Given the description of an element on the screen output the (x, y) to click on. 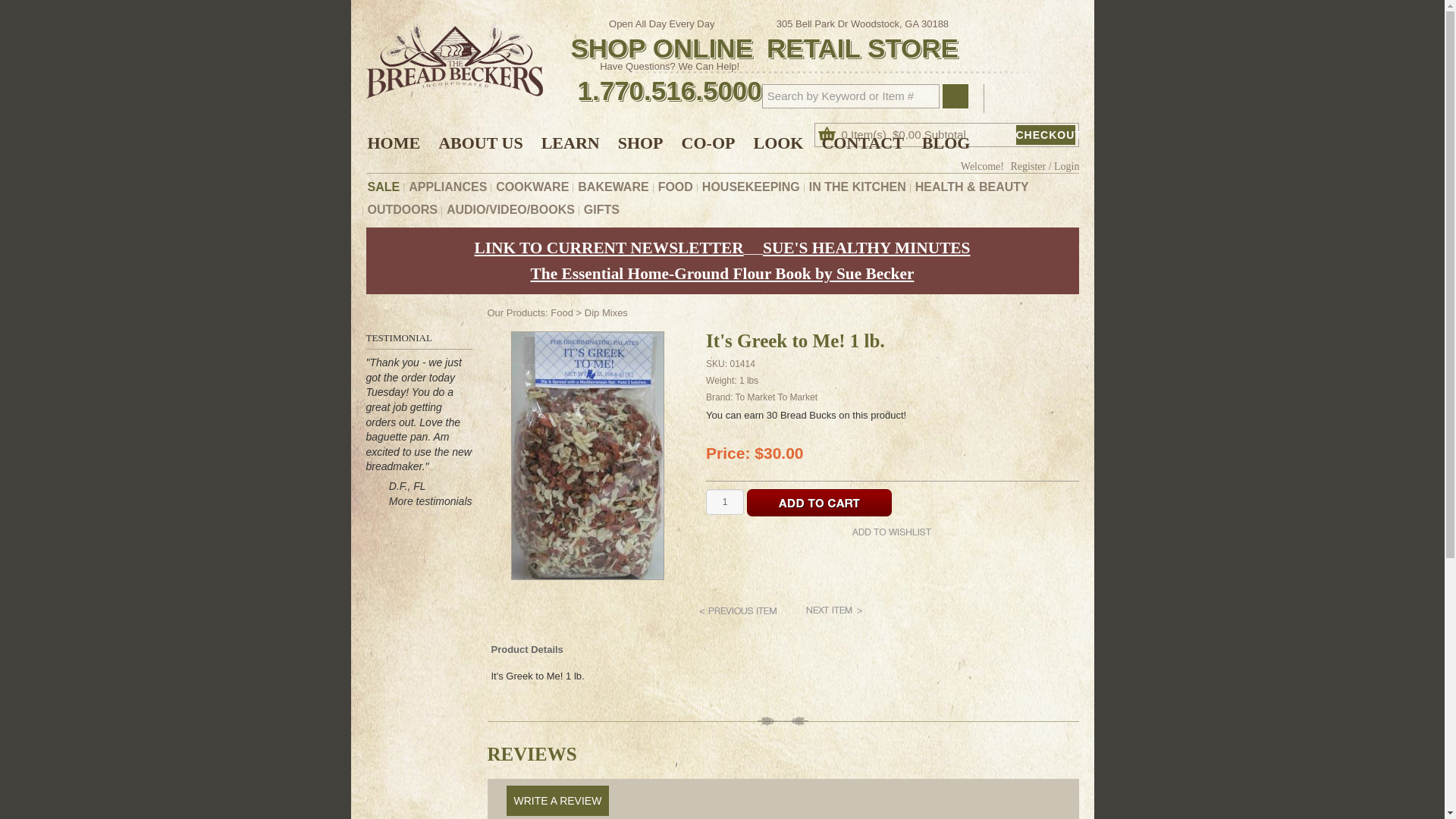
SHOP (640, 143)
CO-OP (708, 143)
LOOK (778, 143)
ABOUT US (480, 143)
1 (725, 501)
Search (955, 96)
CHECKOUT (1045, 134)
LEARN (570, 143)
HOME (397, 143)
CONTACT (862, 143)
BLOG (945, 143)
APPLIANCES (446, 187)
SALE (383, 187)
